Given the description of an element on the screen output the (x, y) to click on. 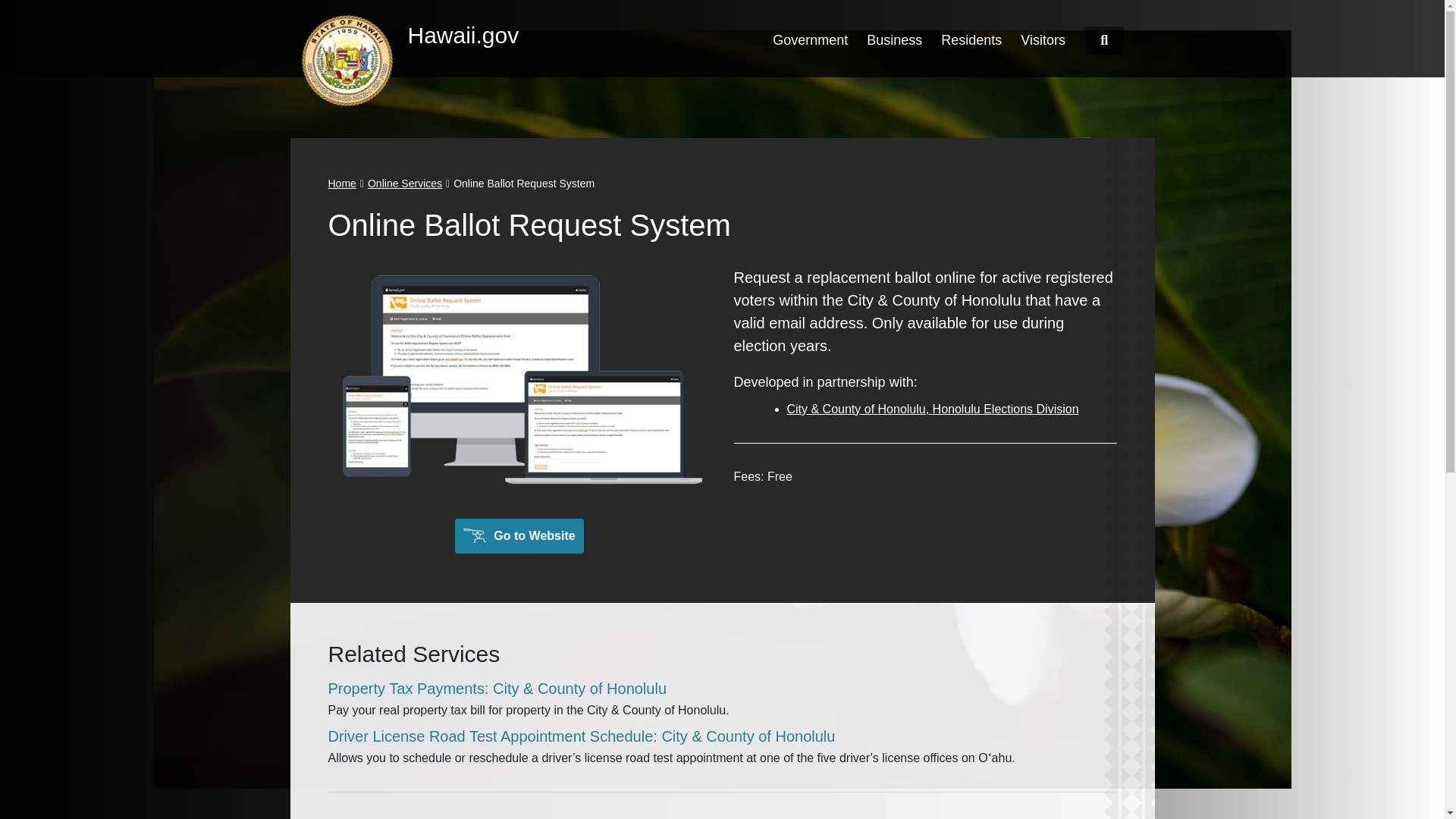
Business (893, 39)
Residents (970, 39)
Search (1104, 40)
Home (341, 183)
Online Services (405, 183)
Go to Website (518, 535)
Hawaii.gov (434, 35)
Government (810, 39)
Visitors (1042, 39)
